Given the description of an element on the screen output the (x, y) to click on. 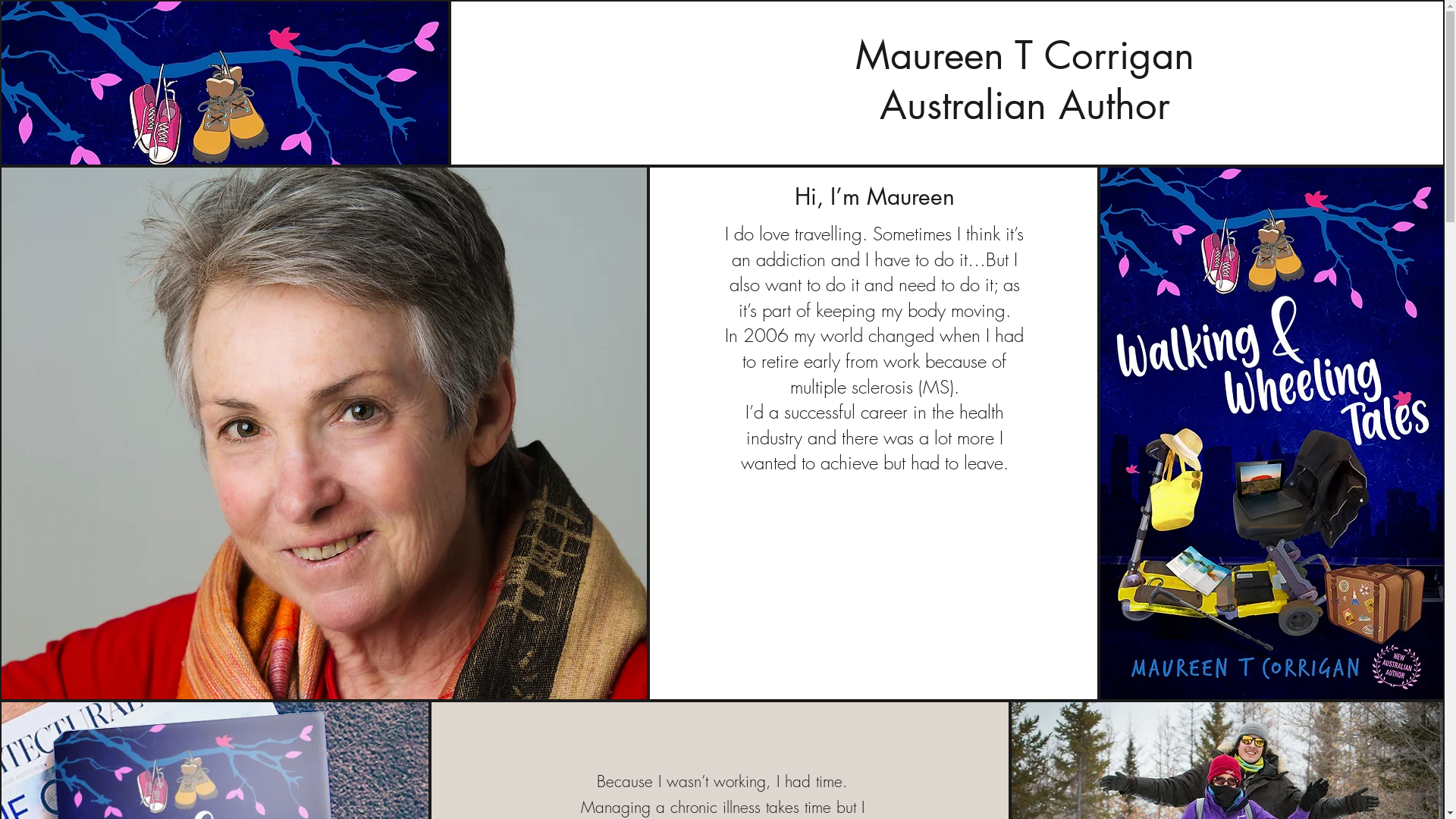
Australian Author Element type: text (1024, 105)
Maureen T Corrigan Element type: text (1024, 55)
